Given the description of an element on the screen output the (x, y) to click on. 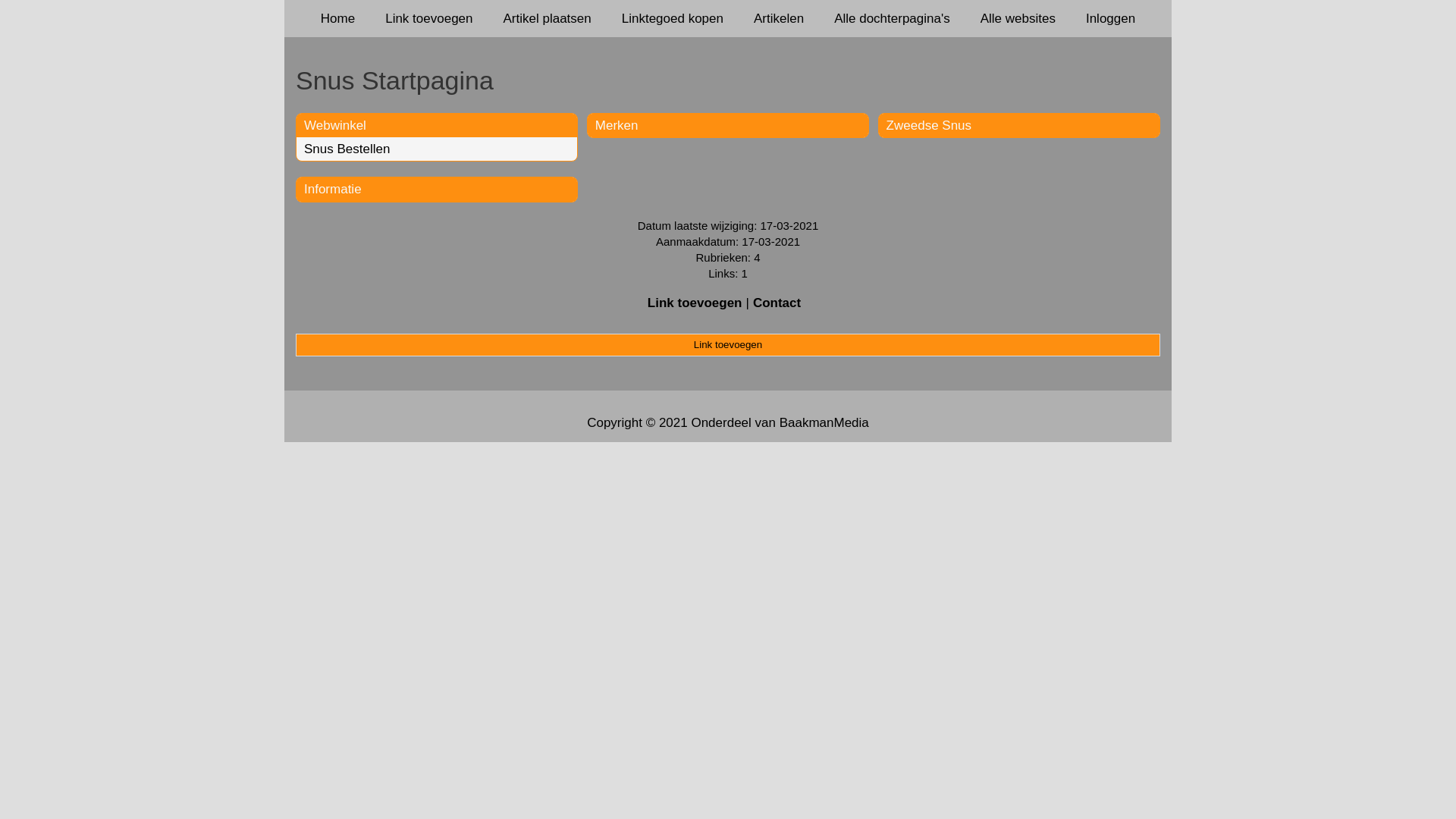
Contact Element type: text (776, 302)
Snus Bestellen Element type: text (346, 148)
Alle dochterpagina's Element type: text (892, 18)
Zweedse Snus Element type: text (928, 125)
Inloggen Element type: text (1110, 18)
Merken Element type: text (616, 125)
Artikel plaatsen Element type: text (547, 18)
Alle websites Element type: text (1017, 18)
Linktegoed kopen Element type: text (672, 18)
Webwinkel Element type: text (335, 125)
Link toevoegen Element type: text (694, 302)
Informatie Element type: text (332, 189)
Home Element type: text (337, 18)
Snus Startpagina Element type: text (727, 80)
Artikelen Element type: text (778, 18)
BaakmanMedia Element type: text (824, 422)
Link toevoegen Element type: text (428, 18)
Link toevoegen Element type: text (727, 344)
